Given the description of an element on the screen output the (x, y) to click on. 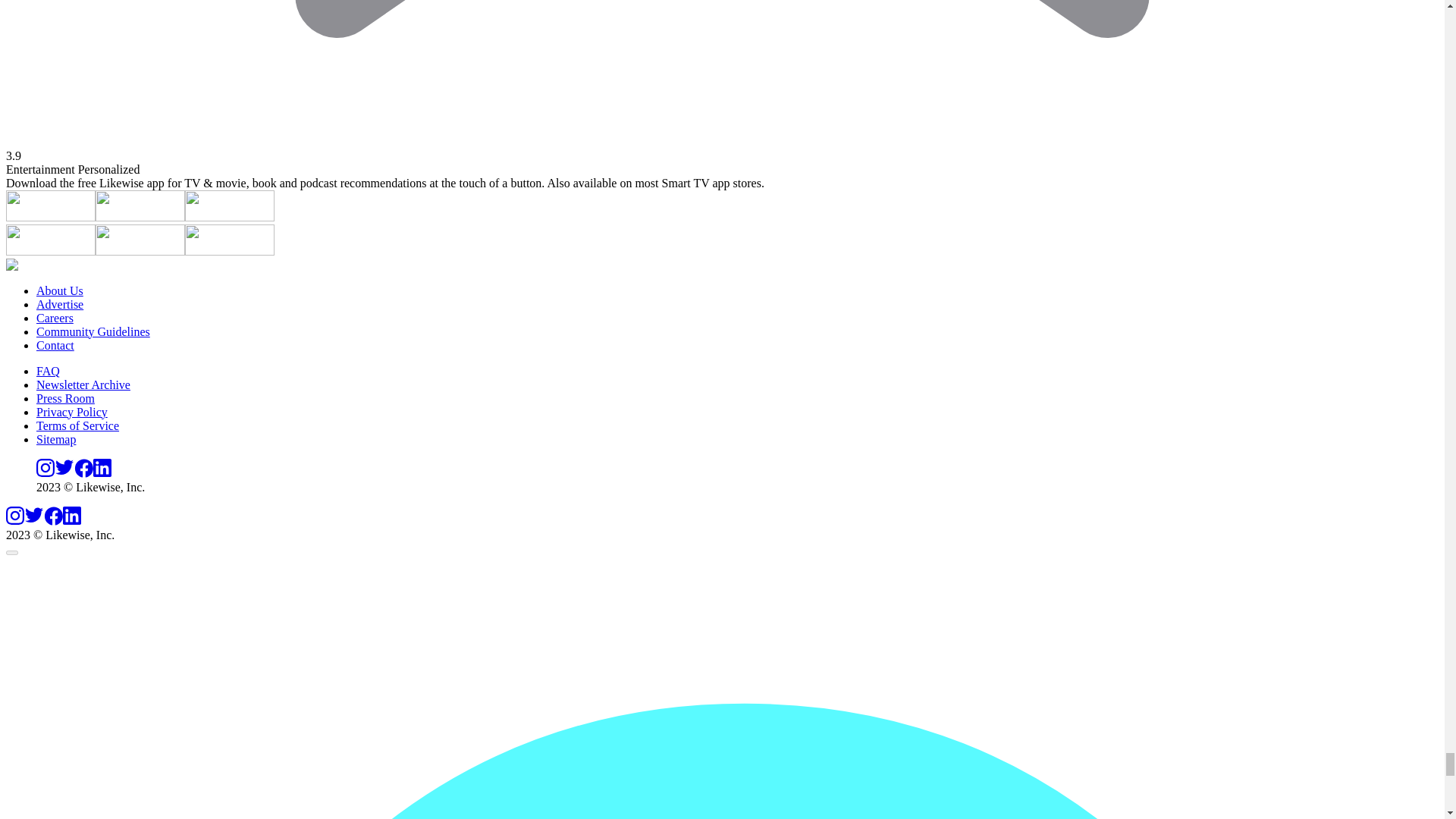
Advertise (59, 304)
Careers (55, 318)
Community Guidelines (92, 331)
Sitemap (55, 439)
Terms of Service (77, 425)
Contact (55, 345)
Privacy Policy (71, 411)
Press Room (65, 398)
FAQ (47, 370)
Newsletter Archive (83, 384)
About Us (59, 290)
